Given the description of an element on the screen output the (x, y) to click on. 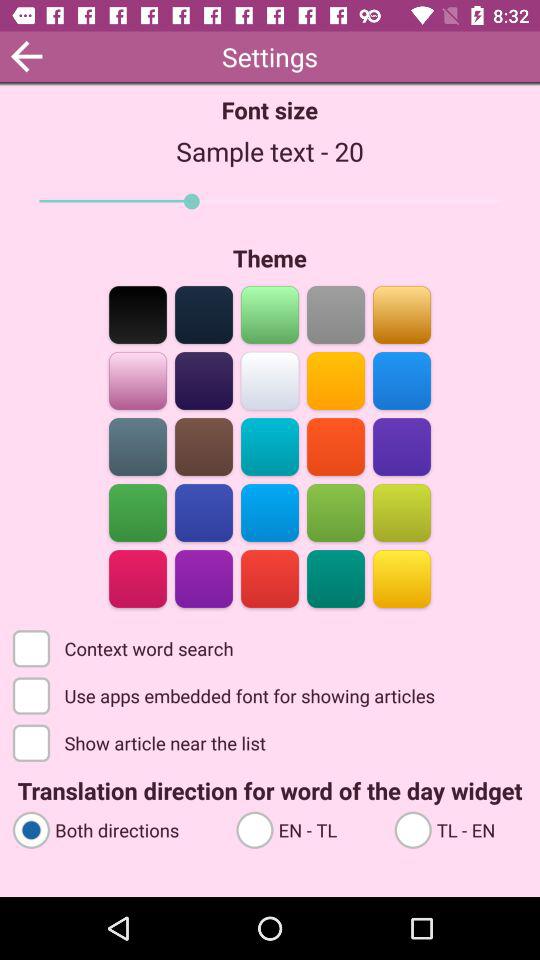
choose blue theme (401, 379)
